Given the description of an element on the screen output the (x, y) to click on. 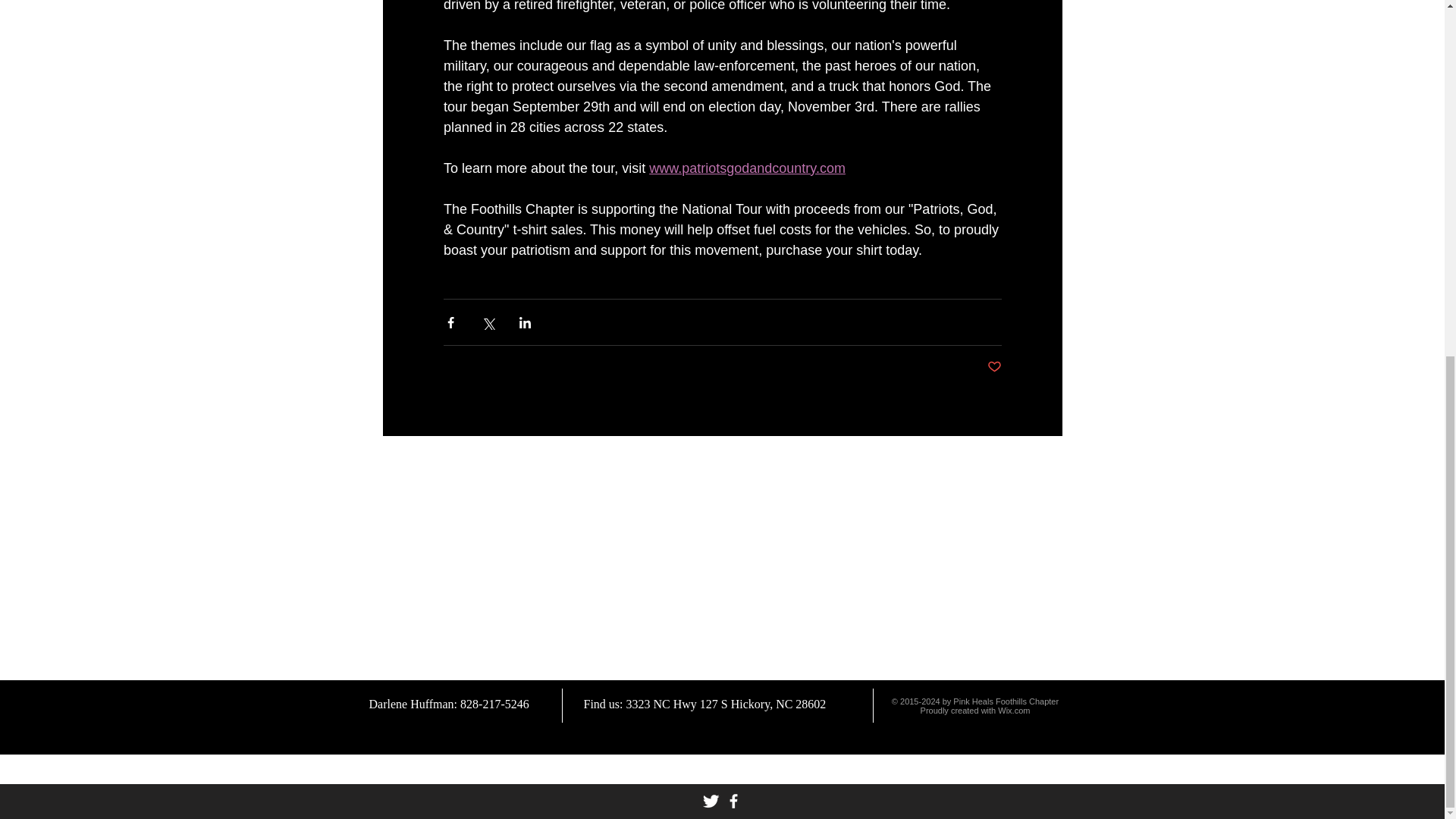
Post not marked as liked (994, 367)
www.patriotsgodandcountry.com (747, 168)
Wix.com (1013, 709)
